Given the description of an element on the screen output the (x, y) to click on. 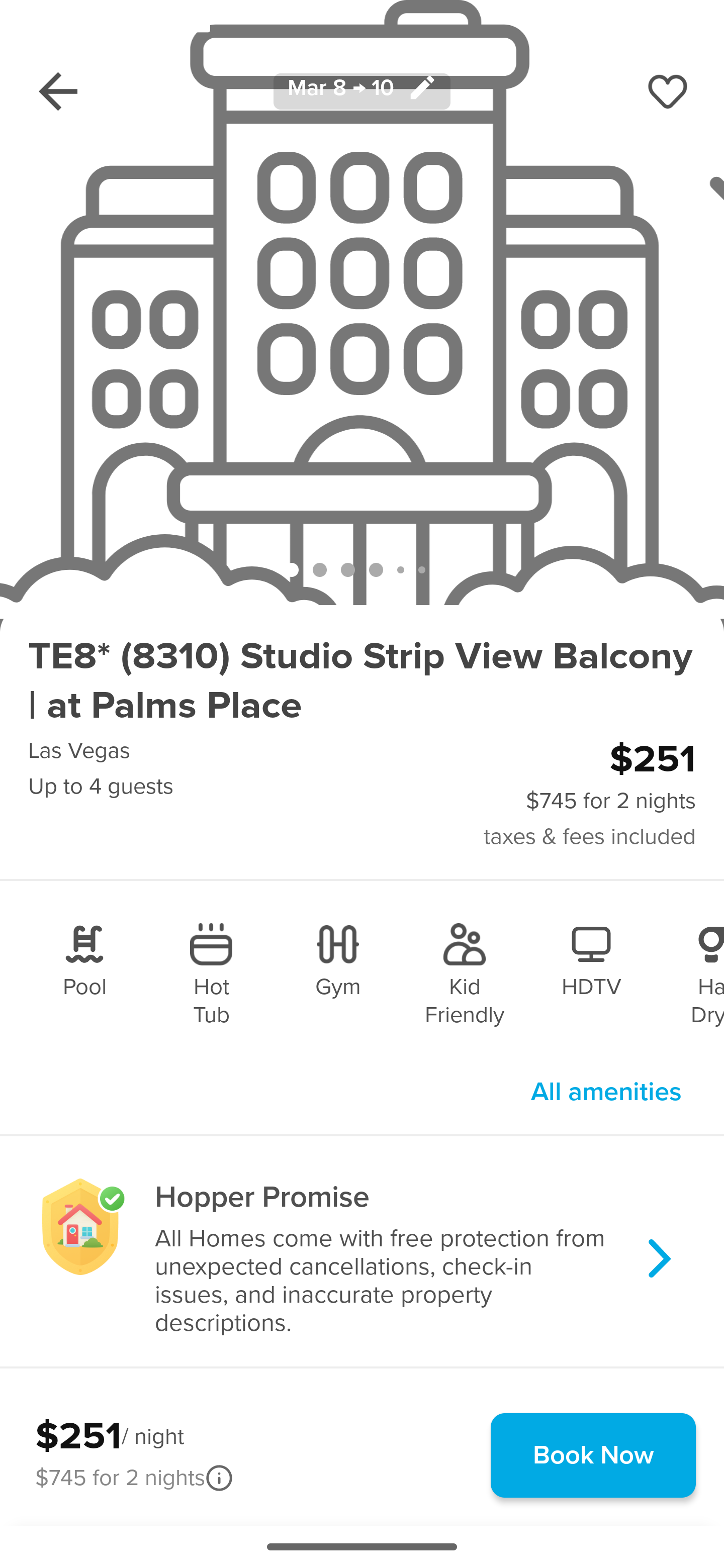
Mar 8 → 10 (361, 90)
All amenities (606, 1091)
Book Now (592, 1454)
